Given the description of an element on the screen output the (x, y) to click on. 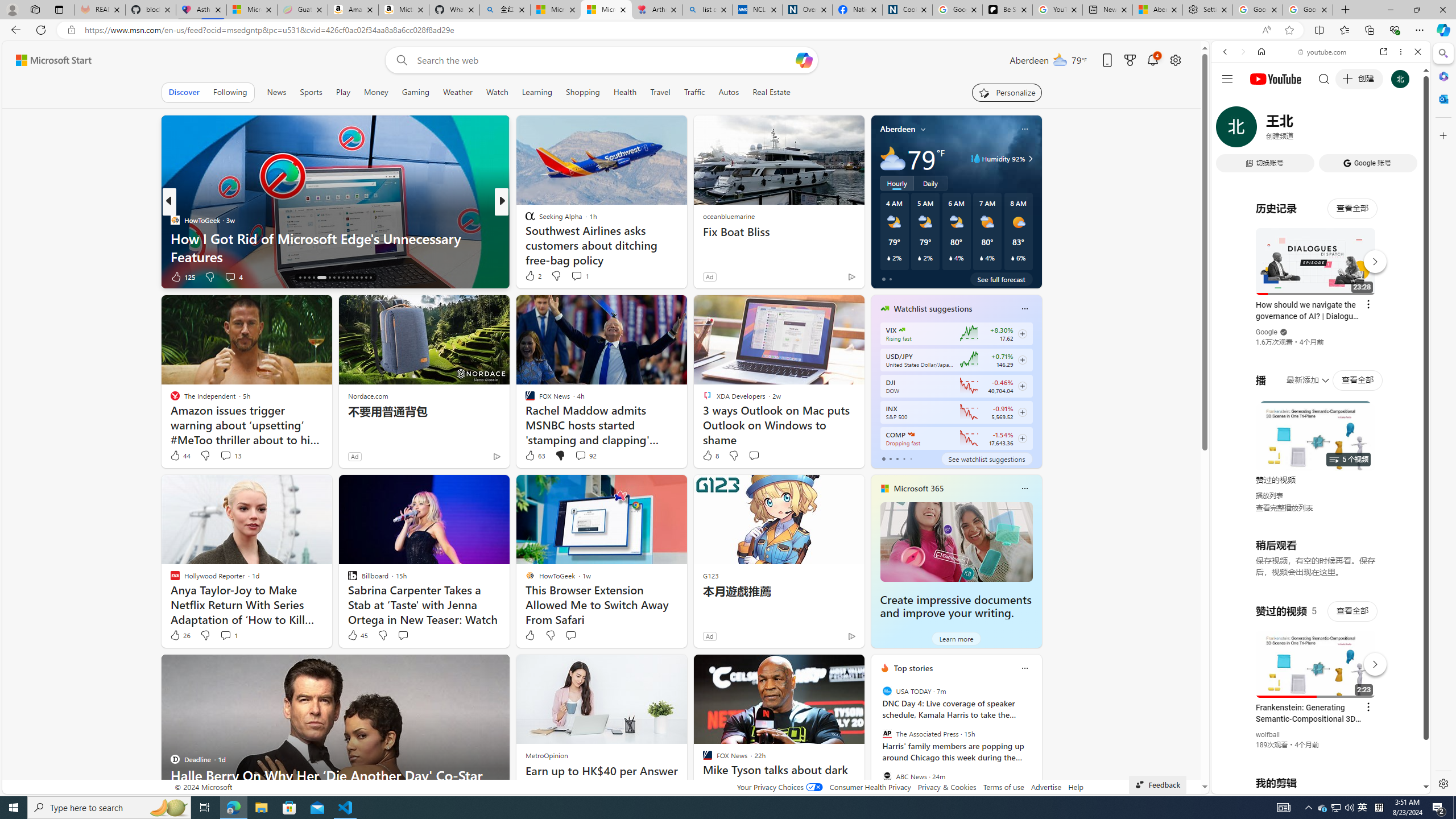
Learn more (956, 638)
HowToGeek (174, 219)
125 Like (182, 276)
US[ju] (1249, 785)
26 Like (179, 634)
